Given the description of an element on the screen output the (x, y) to click on. 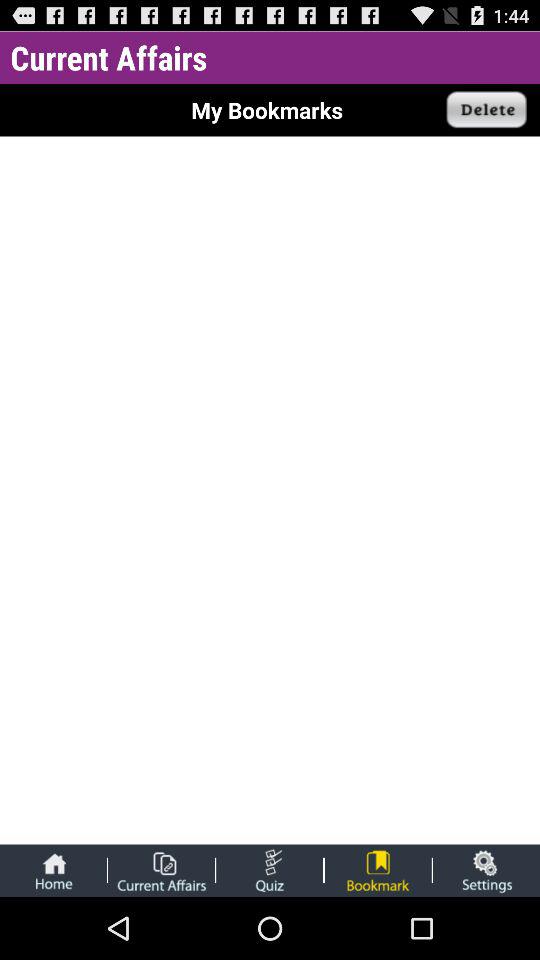
the mark the history (378, 870)
